Given the description of an element on the screen output the (x, y) to click on. 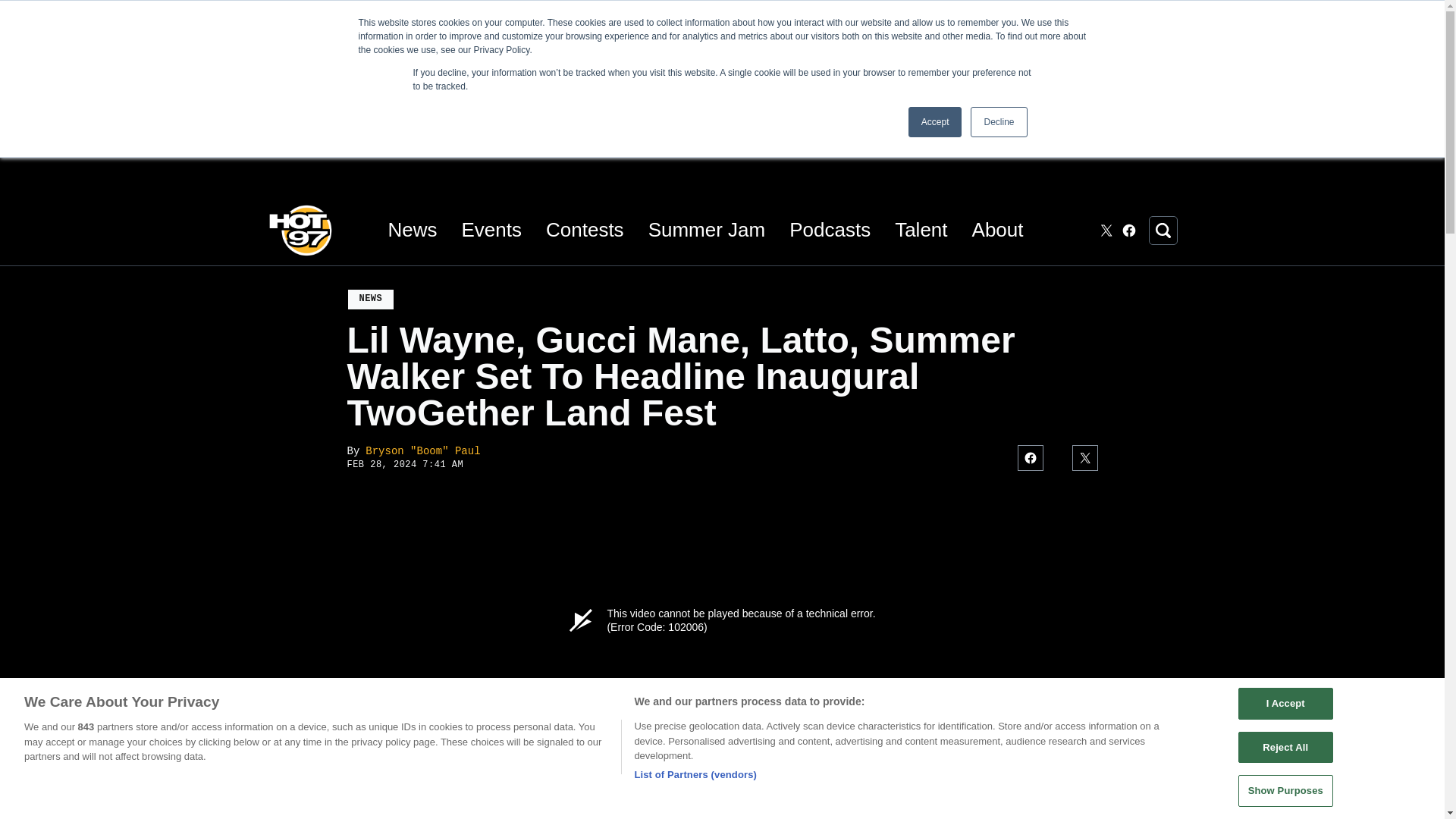
NEWS (370, 299)
Summer Jam (706, 229)
Talent (921, 229)
Accept (935, 122)
About (997, 229)
Bryson "Boom" Paul (422, 451)
X (1105, 230)
Latto (428, 805)
News (413, 229)
Podcasts (829, 229)
Facebook (1128, 230)
Posts by Bryson "Boom" Paul (422, 451)
Search (1162, 230)
Gucci Mane (487, 805)
Lil Wayne (376, 805)
